Given the description of an element on the screen output the (x, y) to click on. 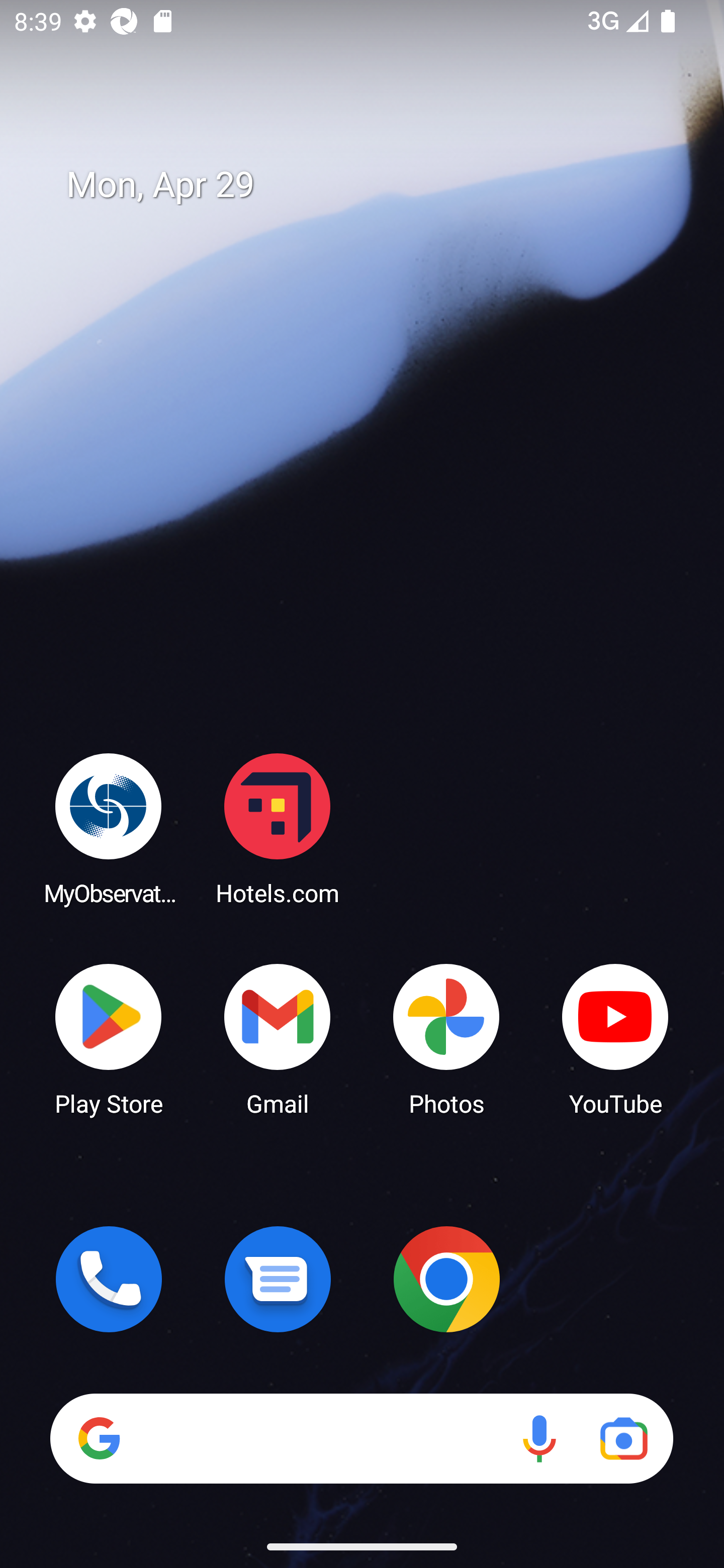
Mon, Apr 29 (375, 184)
MyObservatory (108, 828)
Hotels.com (277, 828)
Play Store (108, 1038)
Gmail (277, 1038)
Photos (445, 1038)
YouTube (615, 1038)
Phone (108, 1279)
Messages (277, 1279)
Chrome (446, 1279)
Search Voice search Google Lens (361, 1438)
Voice search (539, 1438)
Google Lens (623, 1438)
